Given the description of an element on the screen output the (x, y) to click on. 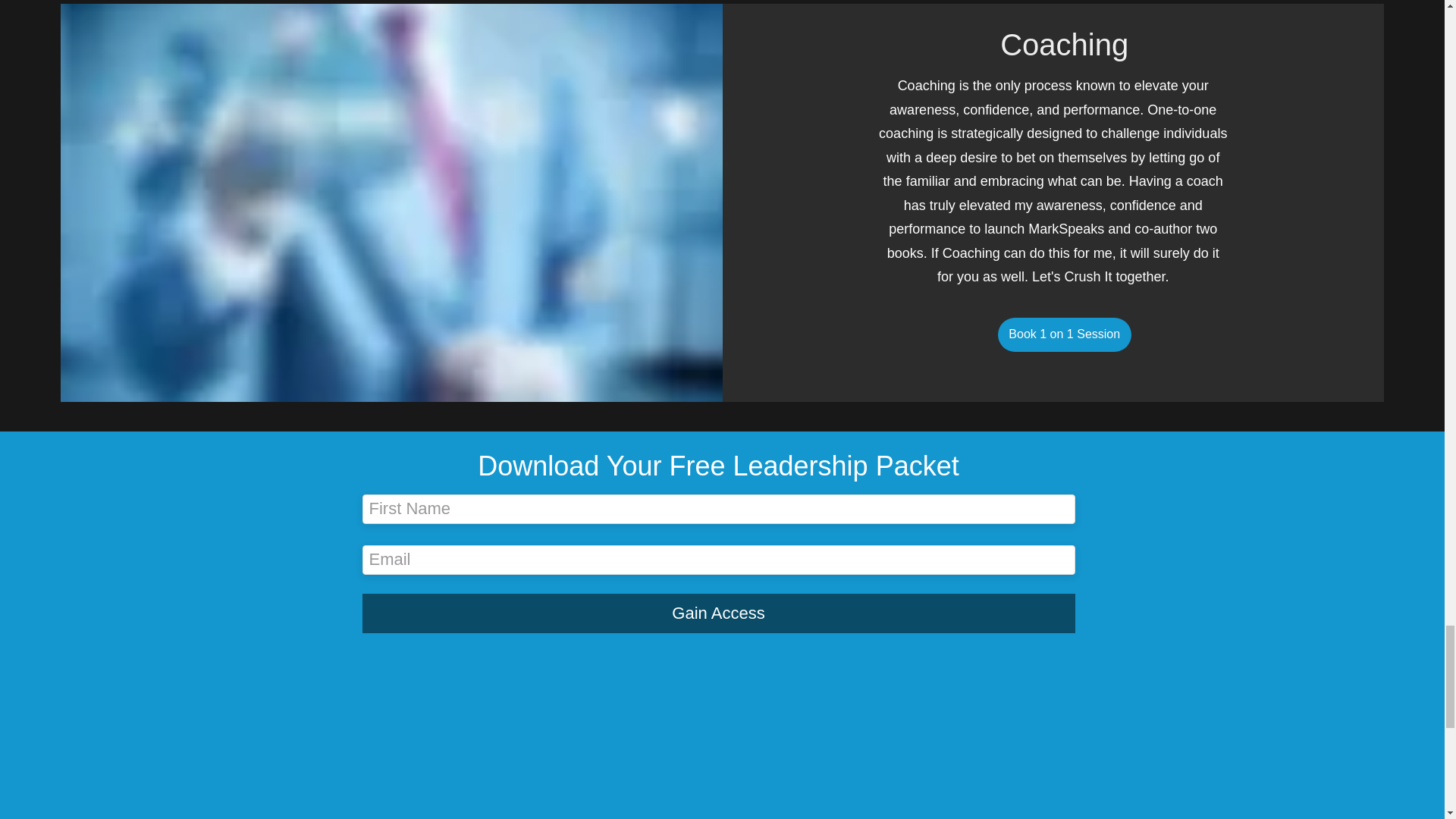
Gain Access (718, 613)
Book 1 on 1 Session (1064, 334)
